Given the description of an element on the screen output the (x, y) to click on. 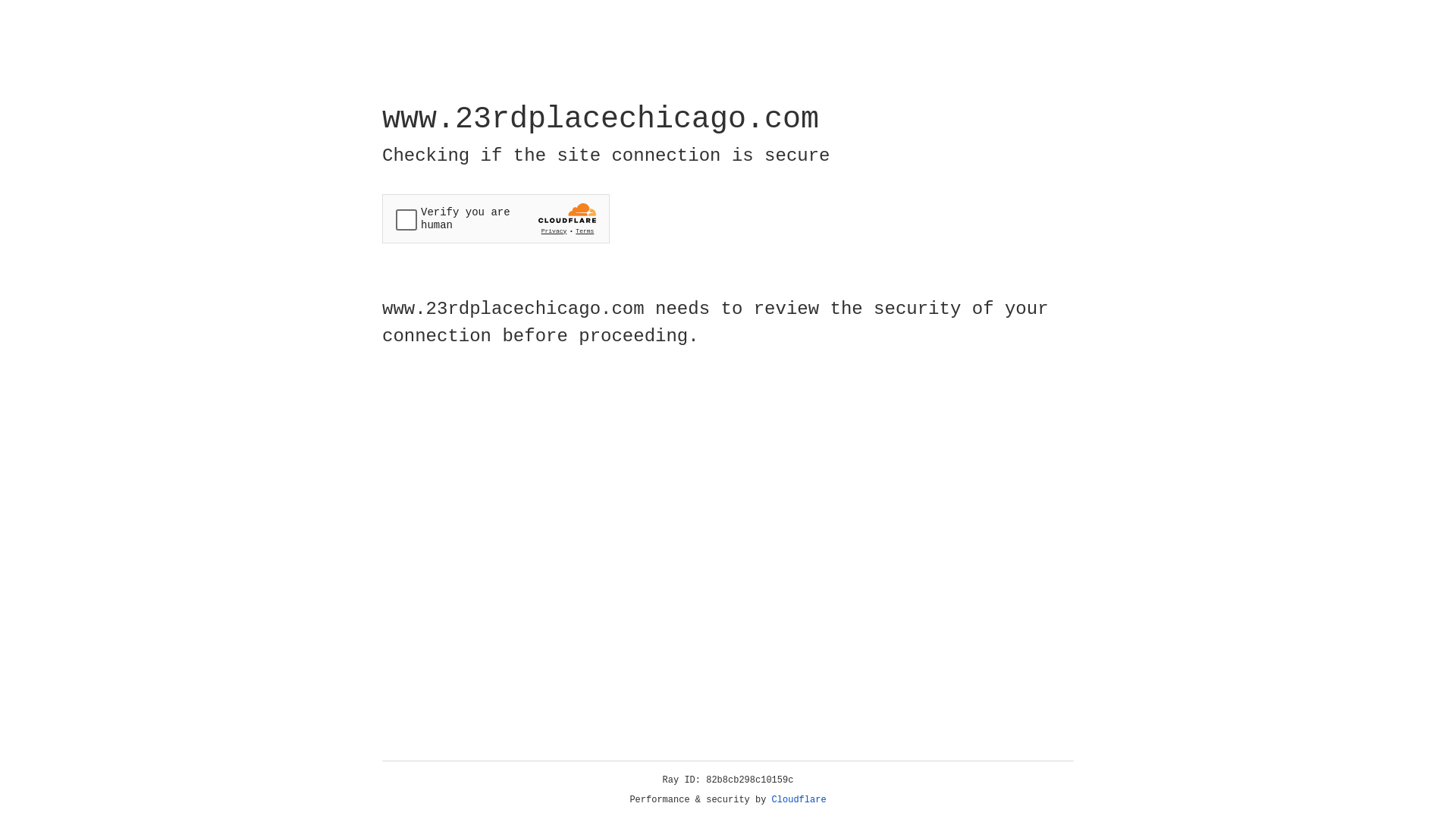
Widget containing a Cloudflare security challenge Element type: hover (495, 218)
Cloudflare Element type: text (798, 799)
